Given the description of an element on the screen output the (x, y) to click on. 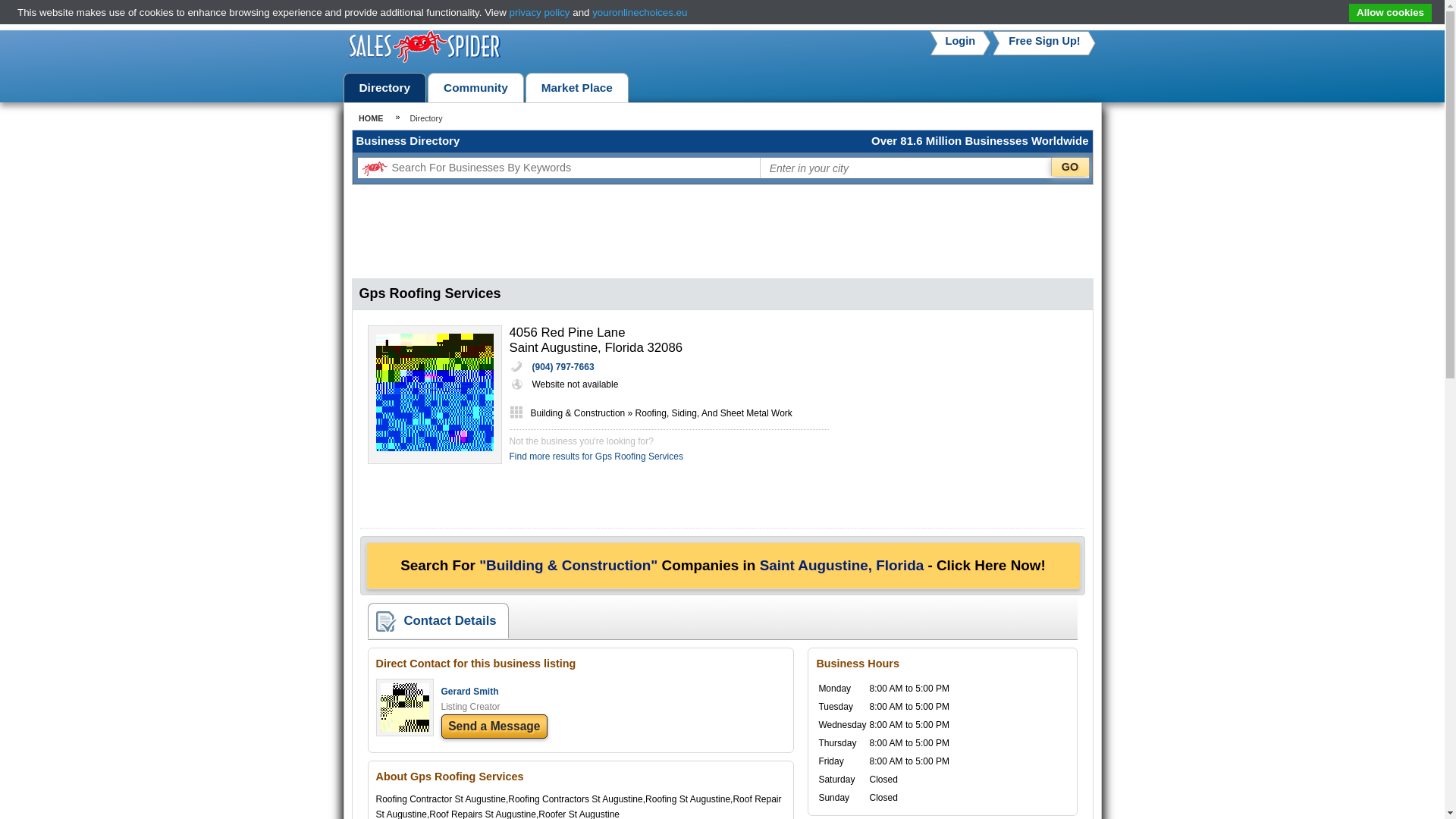
Free Sign Up! (1044, 40)
Login to SaleSpider (960, 41)
Community (475, 87)
Advertisement (721, 233)
Login (960, 41)
GO (1070, 167)
gerard-smith (404, 728)
Advertisement (970, 420)
GO (1070, 167)
Directory (384, 87)
Send a message (494, 726)
SaleSpider Home Page (424, 59)
